Given the description of an element on the screen output the (x, y) to click on. 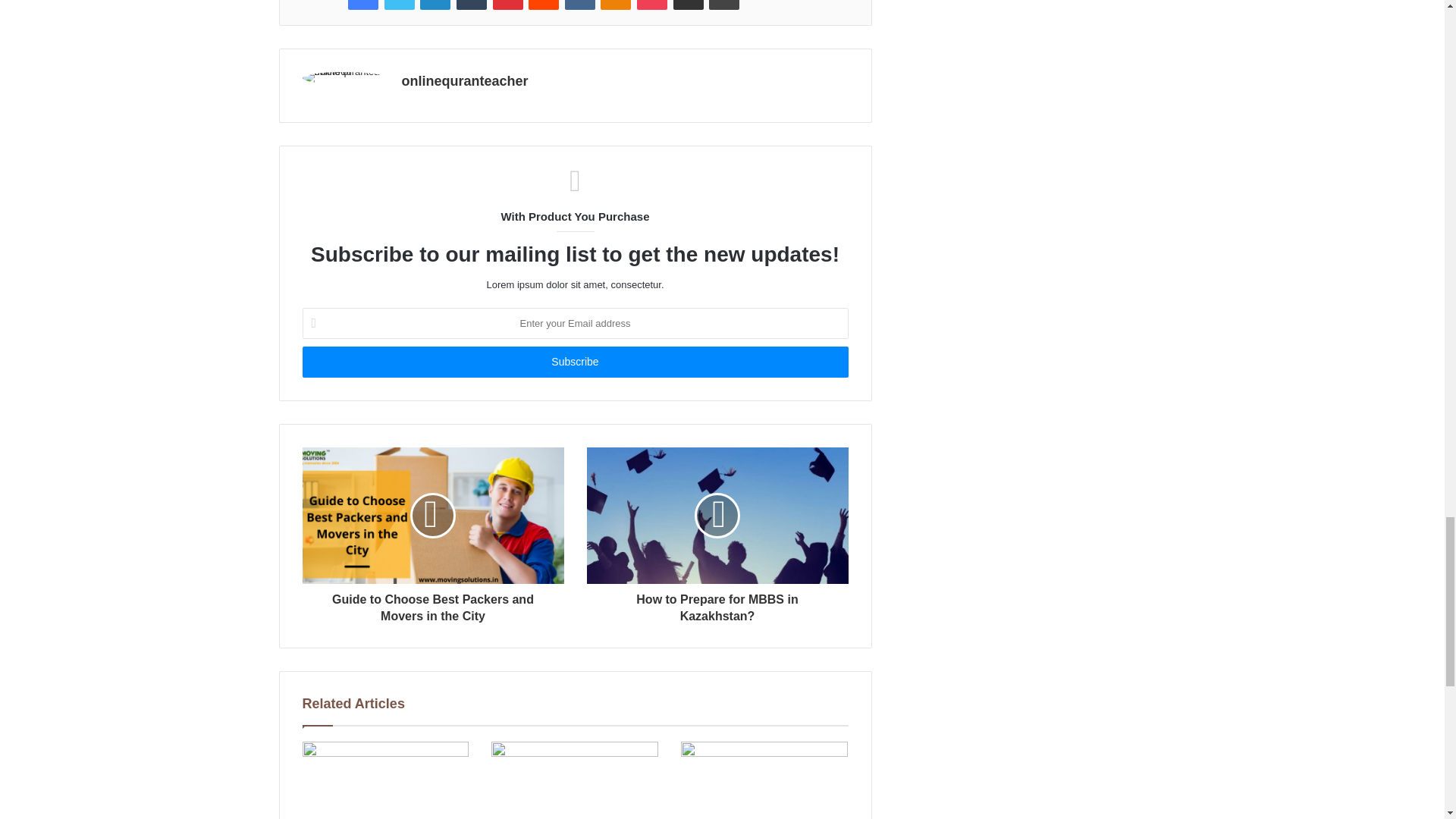
Subscribe (574, 361)
